Given the description of an element on the screen output the (x, y) to click on. 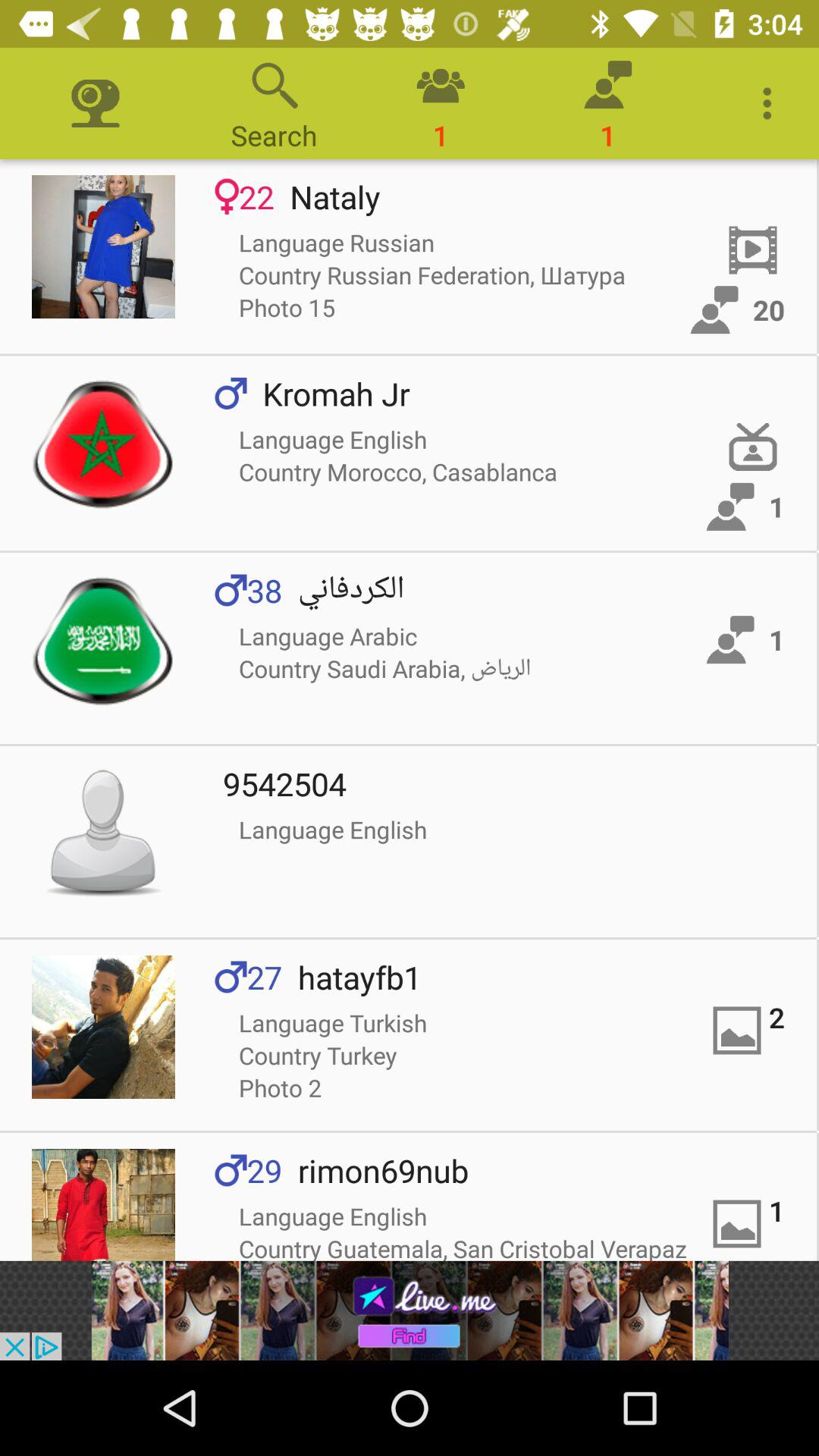
profile picture (103, 1026)
